Given the description of an element on the screen output the (x, y) to click on. 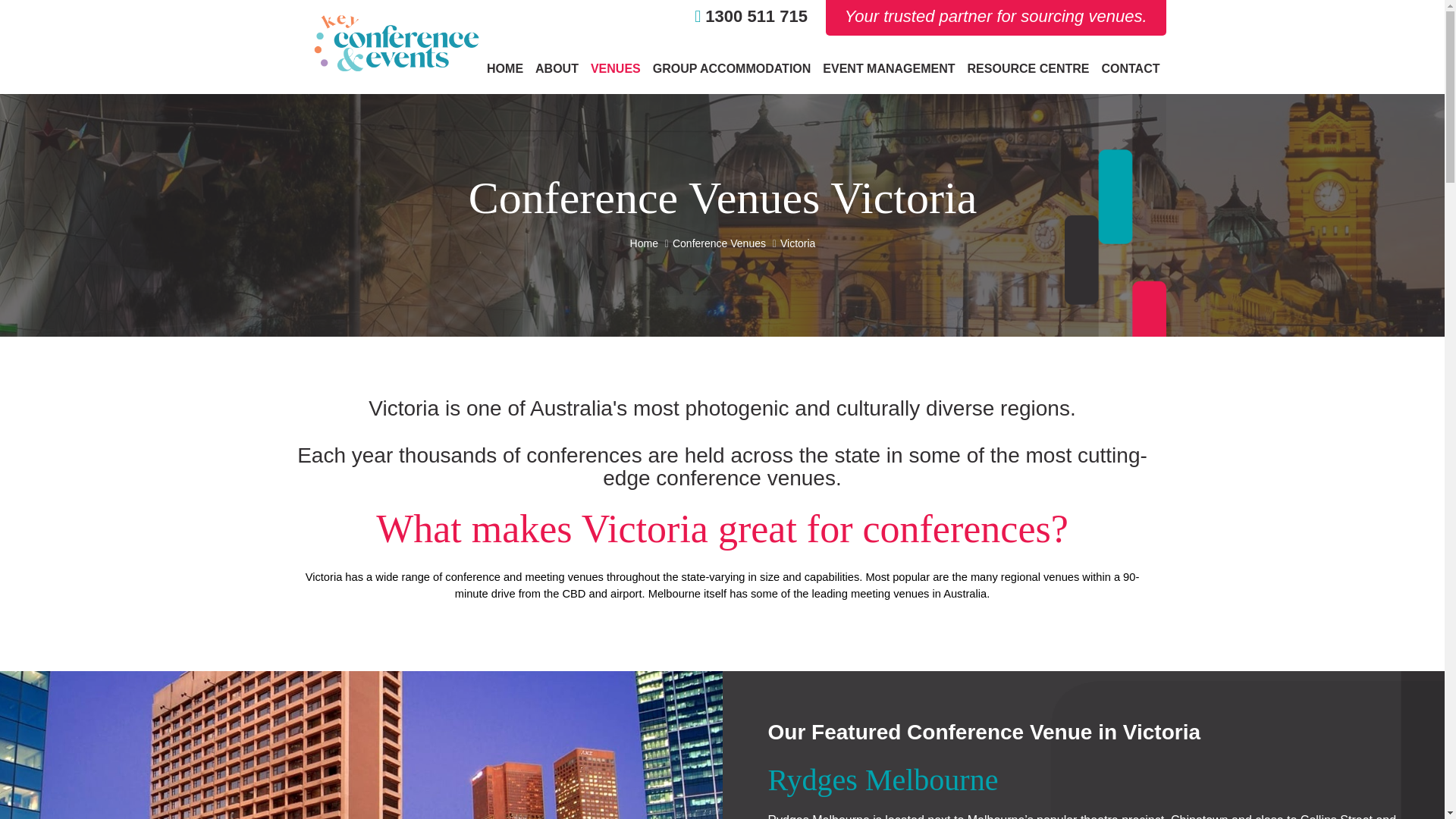
HOME (504, 68)
VENUES (615, 68)
1300 511 715 (751, 15)
ABOUT (557, 68)
CONTACT (1130, 68)
EVENT MANAGEMENT (888, 68)
RESOURCE CENTRE (1028, 68)
GROUP ACCOMMODATION (731, 68)
Conference Venues (718, 243)
Home (643, 243)
